Given the description of an element on the screen output the (x, y) to click on. 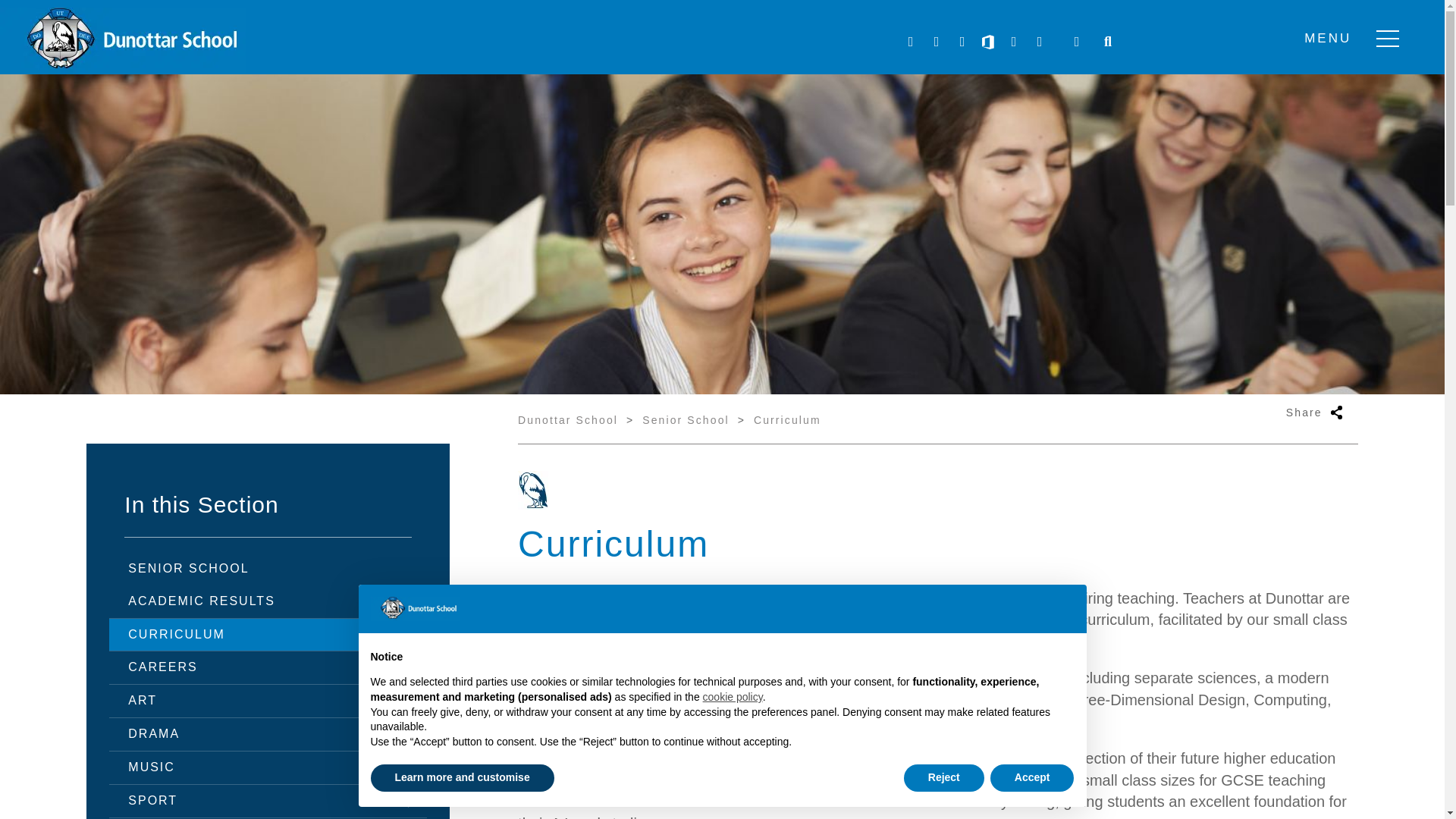
TWITTER (910, 41)
SPORTS FIXTURES (1013, 41)
FACEBOOK (936, 41)
Office 365 (987, 41)
INSTAGRAM (962, 41)
PARENT PORTAL (1076, 41)
OFFICE (987, 41)
SEARCH (1107, 41)
Calendar (1039, 41)
Facebook (936, 41)
Twitter (910, 41)
CALENDAR (1039, 41)
Instagram (962, 41)
Search (1107, 41)
Sports Fixtures (1013, 41)
